Given the description of an element on the screen output the (x, y) to click on. 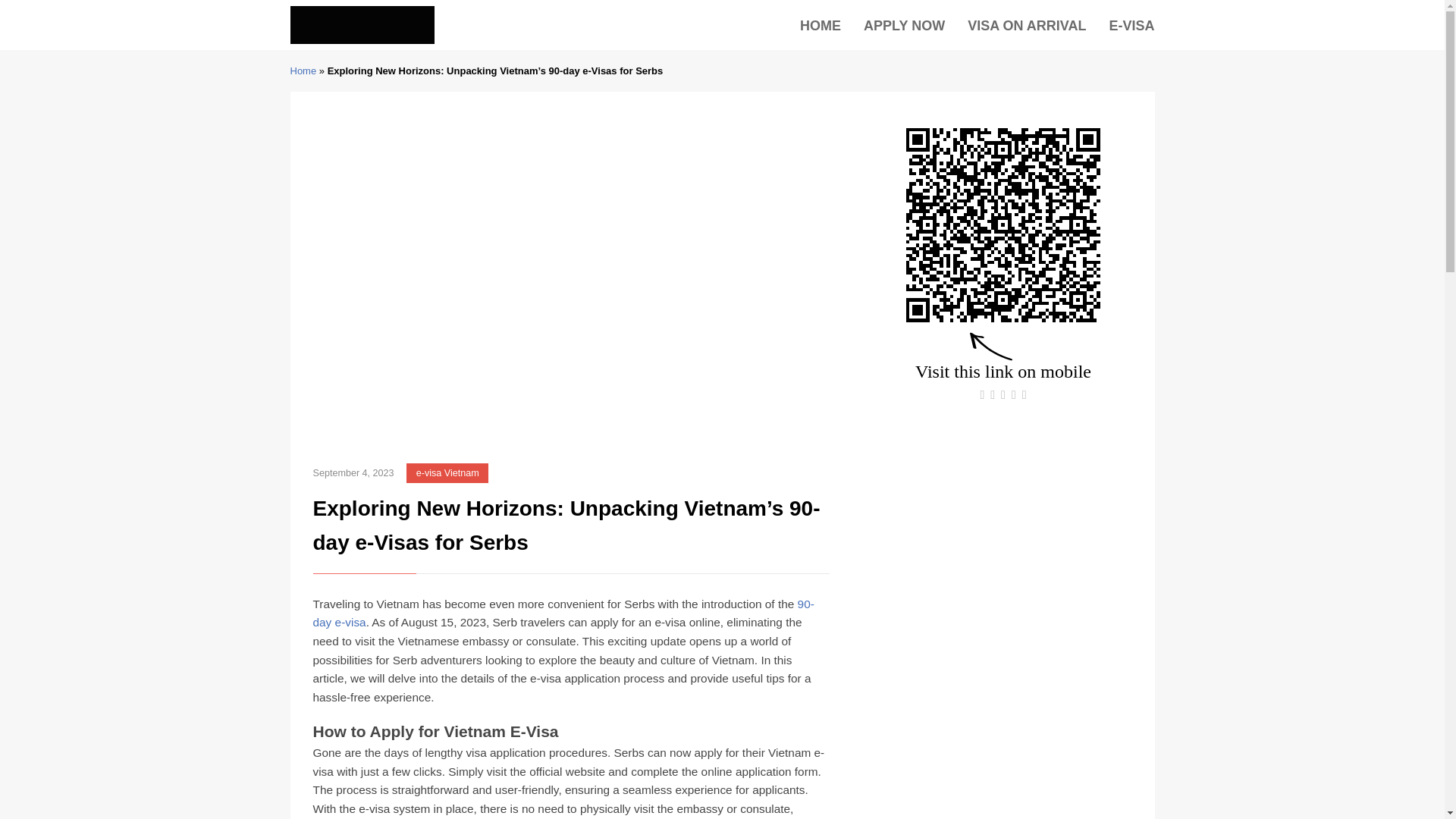
E-VISA (1131, 25)
APPLY NOW (903, 25)
90-day e-visa (563, 613)
Home (302, 70)
VISA ON ARRIVAL (1026, 25)
e-visa Vietnam (446, 472)
HOME (820, 25)
